Given the description of an element on the screen output the (x, y) to click on. 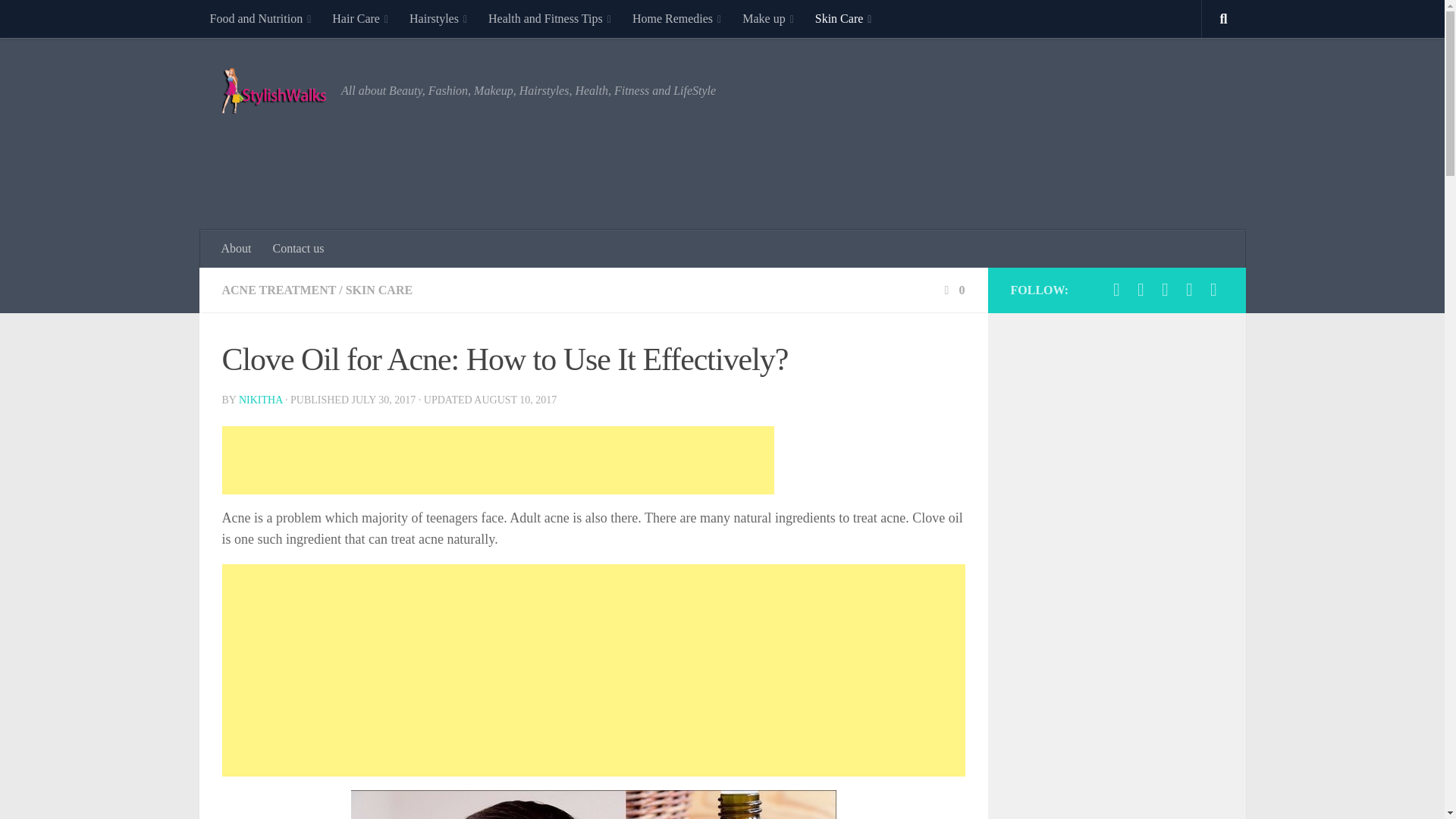
Food and Nutrition (259, 18)
Hair Care (359, 18)
Hairstyles (437, 18)
Posts by Nikitha (260, 399)
Advertisement (524, 670)
Skip to content (59, 20)
Health and Fitness Tips (549, 18)
Advertisement (946, 161)
Follow us on Facebook-official (1115, 289)
Follow us on Twitter (1140, 289)
Home Remedies (676, 18)
Advertisement (497, 459)
